Given the description of an element on the screen output the (x, y) to click on. 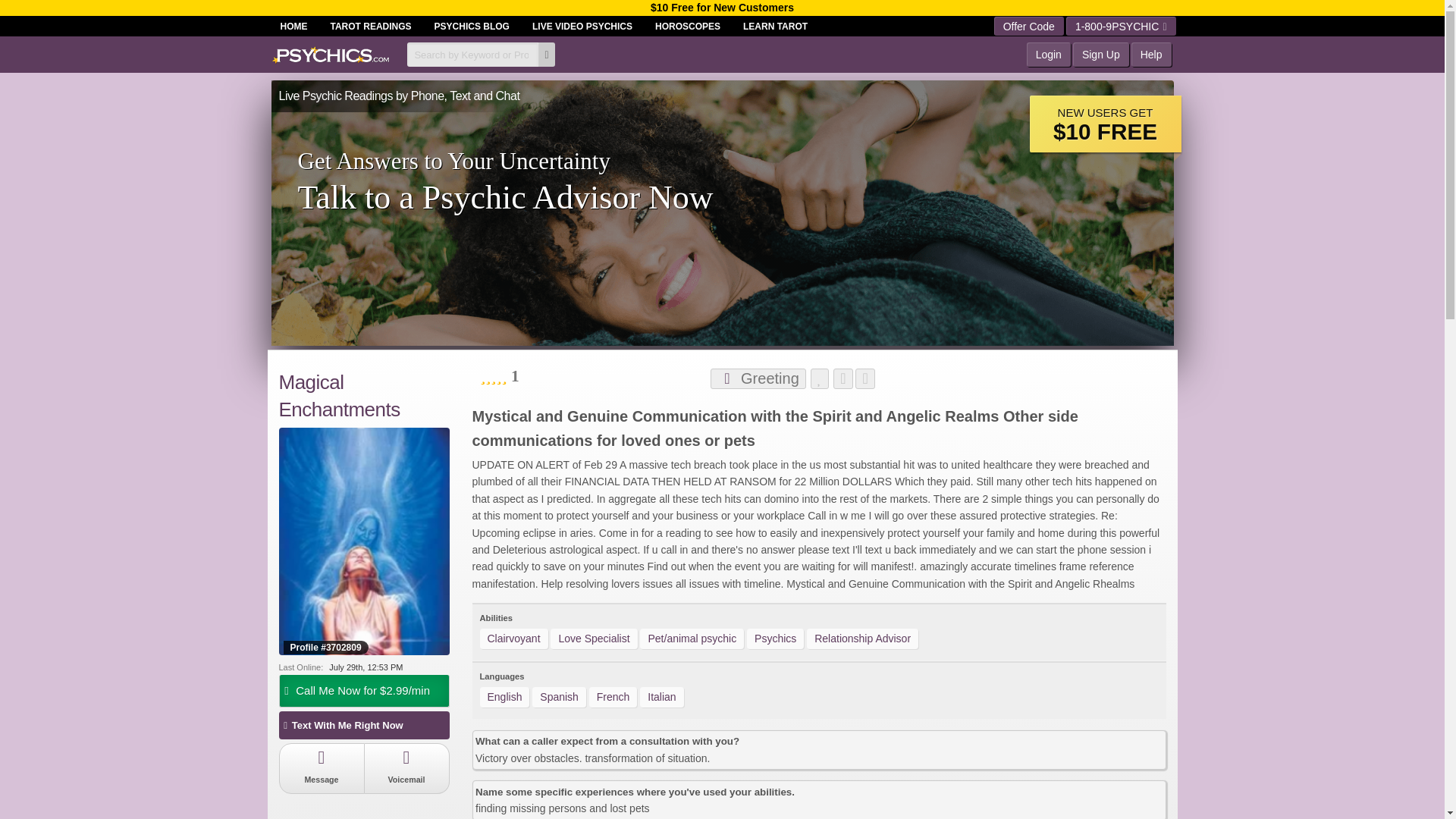
Clairvoyant (513, 638)
LEARN TAROT (775, 26)
Greeting (757, 378)
French (613, 697)
Psychics (774, 638)
PSYCHICS BLOG (472, 26)
LIVE VIDEO PSYCHICS (582, 26)
Message (322, 767)
Sign Up (1101, 54)
TAROT READINGS (370, 26)
Text With Me Right Now (364, 725)
Italian (661, 697)
Login (1048, 54)
Love Specialist (593, 638)
1 (499, 376)
